Given the description of an element on the screen output the (x, y) to click on. 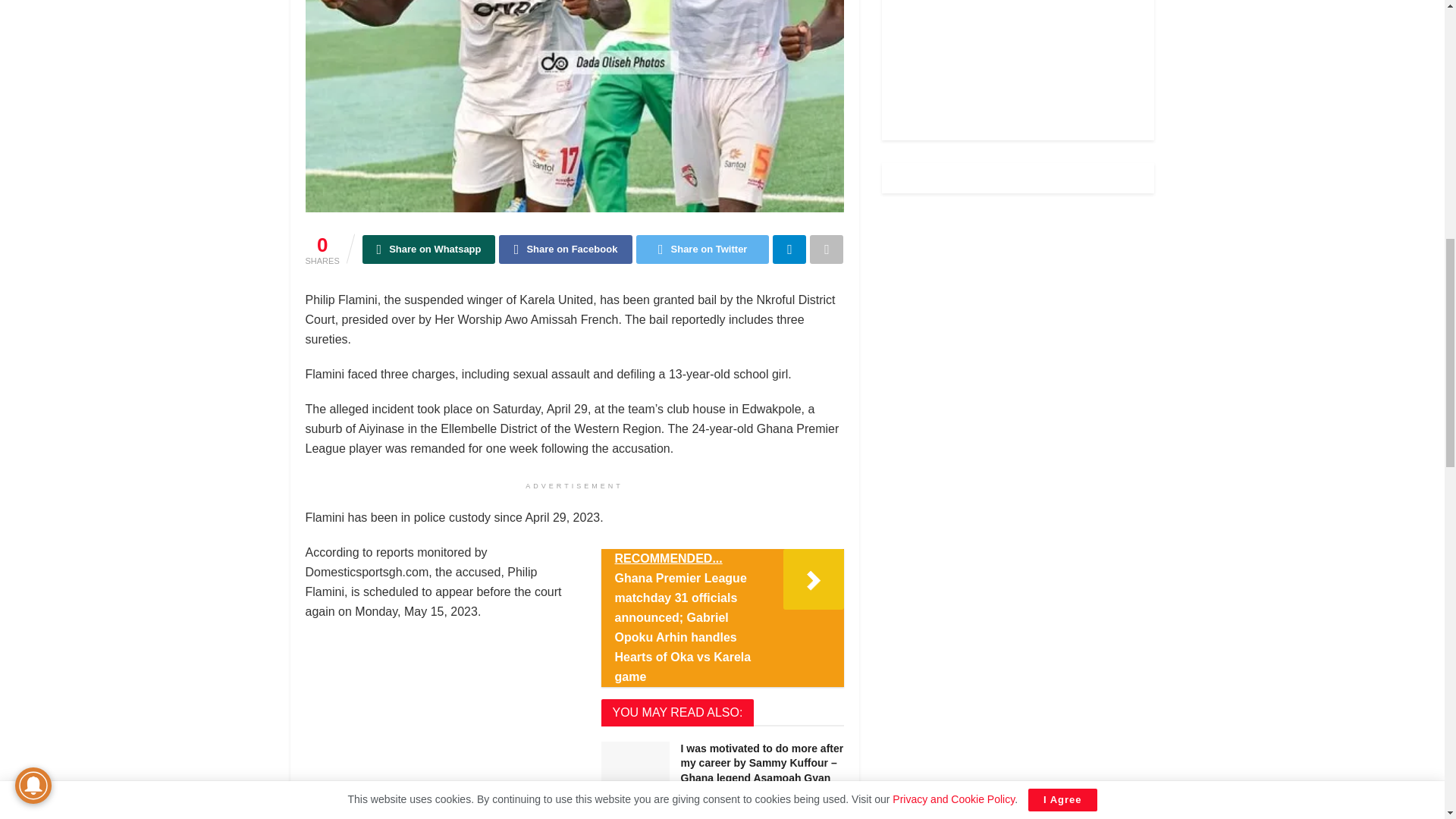
Advertisement (1017, 56)
